Given the description of an element on the screen output the (x, y) to click on. 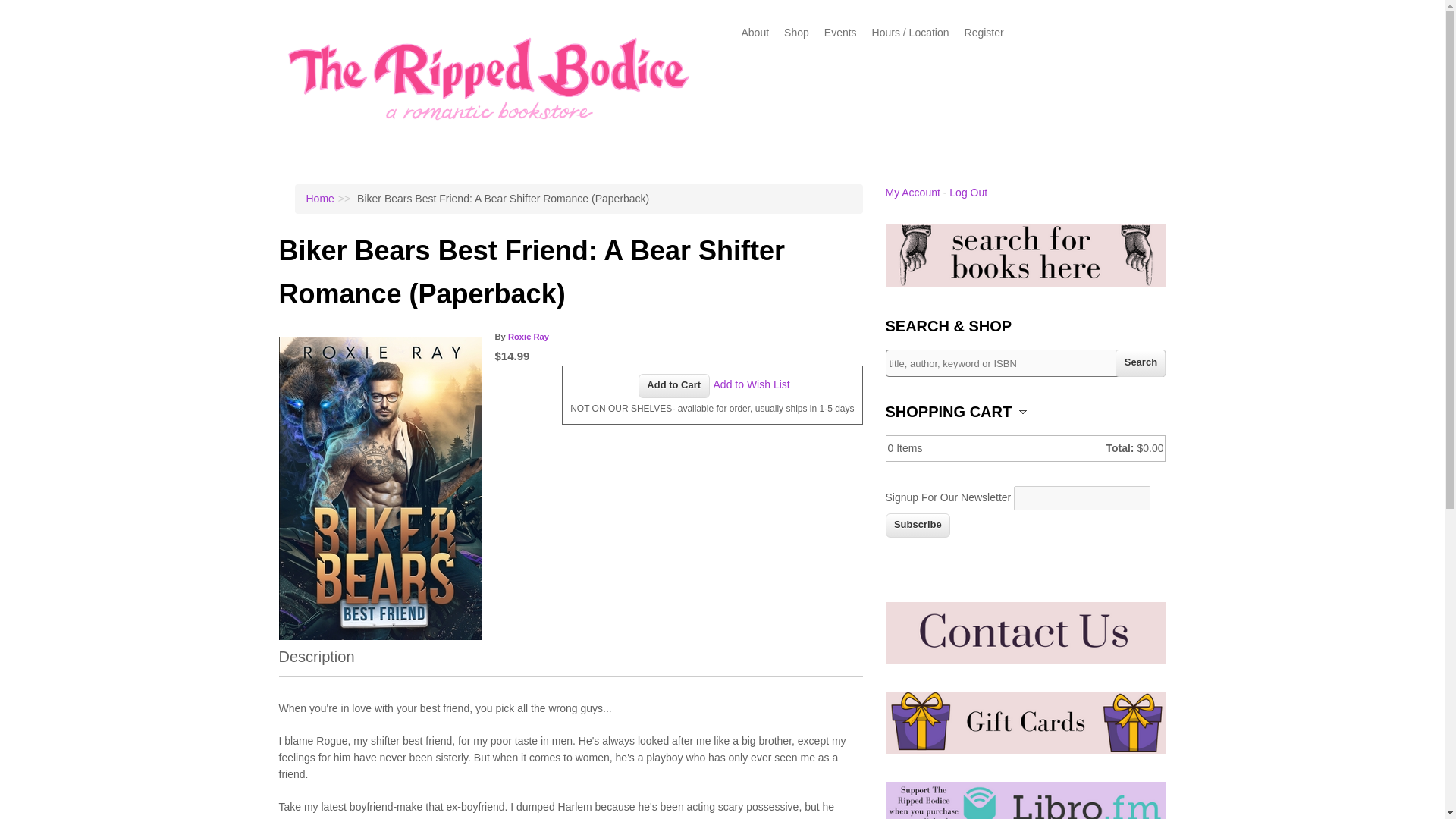
Events (840, 32)
Search (1140, 362)
Subscribe (917, 525)
Subscribe (917, 525)
About (755, 32)
Register (983, 32)
Add to Wish List (751, 384)
Roxie Ray (528, 336)
Home (319, 198)
Home (489, 133)
